Given the description of an element on the screen output the (x, y) to click on. 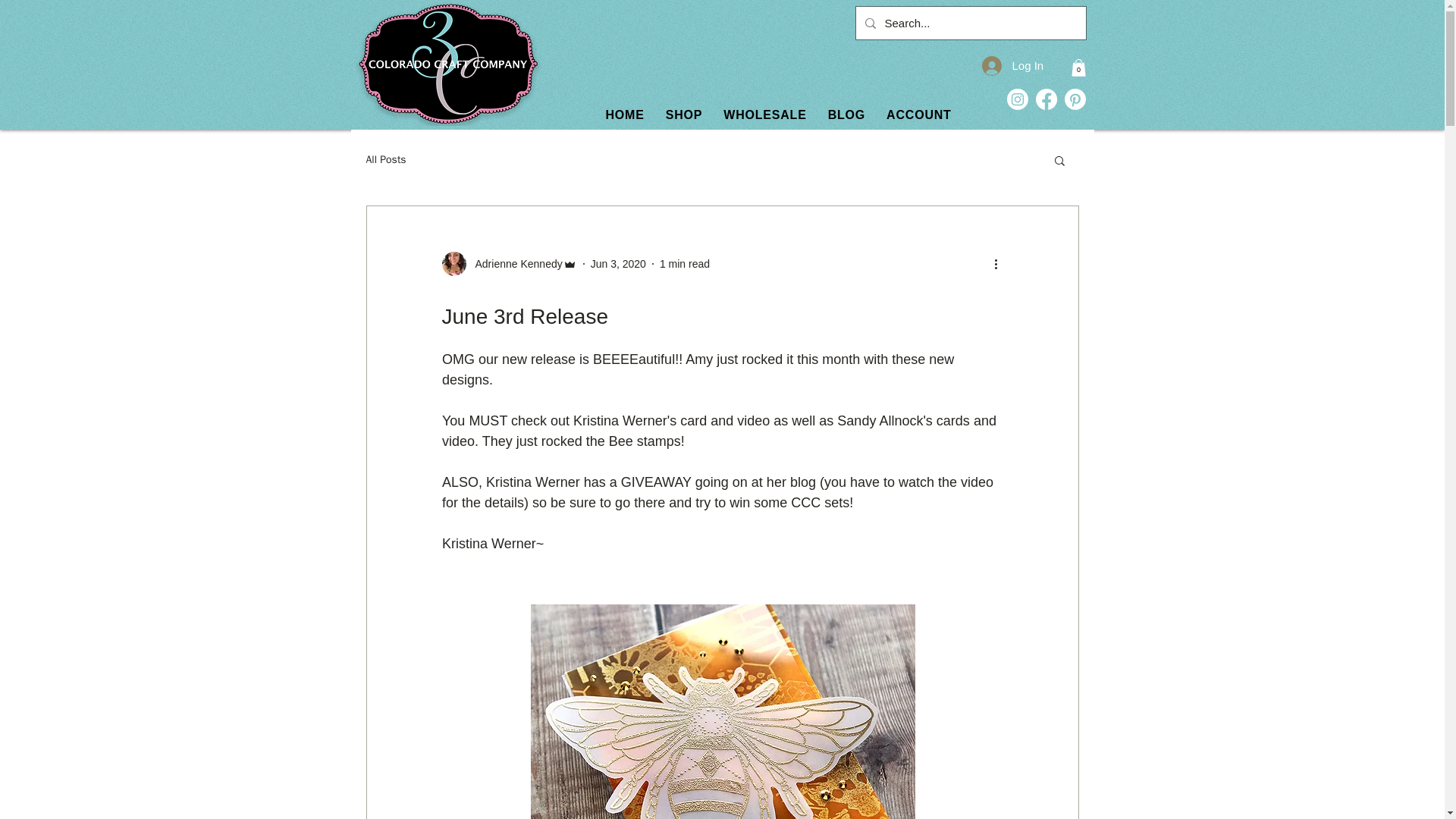
Adrienne Kennedy (508, 263)
WHOLESALE (764, 114)
1 min read (684, 263)
Jun 3, 2020 (801, 114)
Adrienne Kennedy (618, 263)
All Posts (513, 263)
Wix Chat (385, 160)
HOME (140, 786)
ACCOUNT (623, 114)
